Given the description of an element on the screen output the (x, y) to click on. 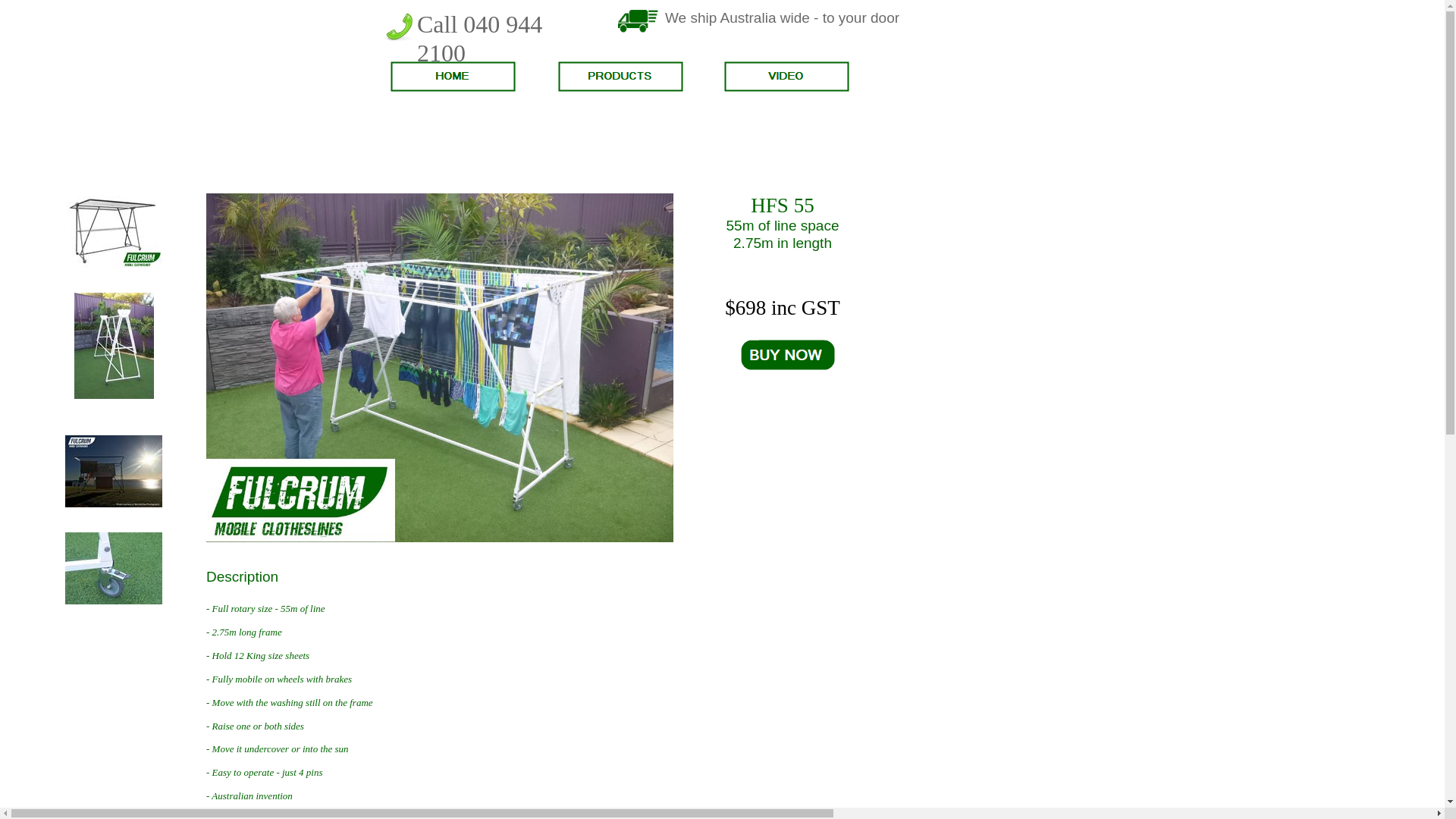
Wings down Element type: hover (113, 395)
Wings down Element type: hover (113, 345)
Wheel with brake Element type: hover (113, 568)
Wheel with brake Element type: hover (113, 600)
